Given the description of an element on the screen output the (x, y) to click on. 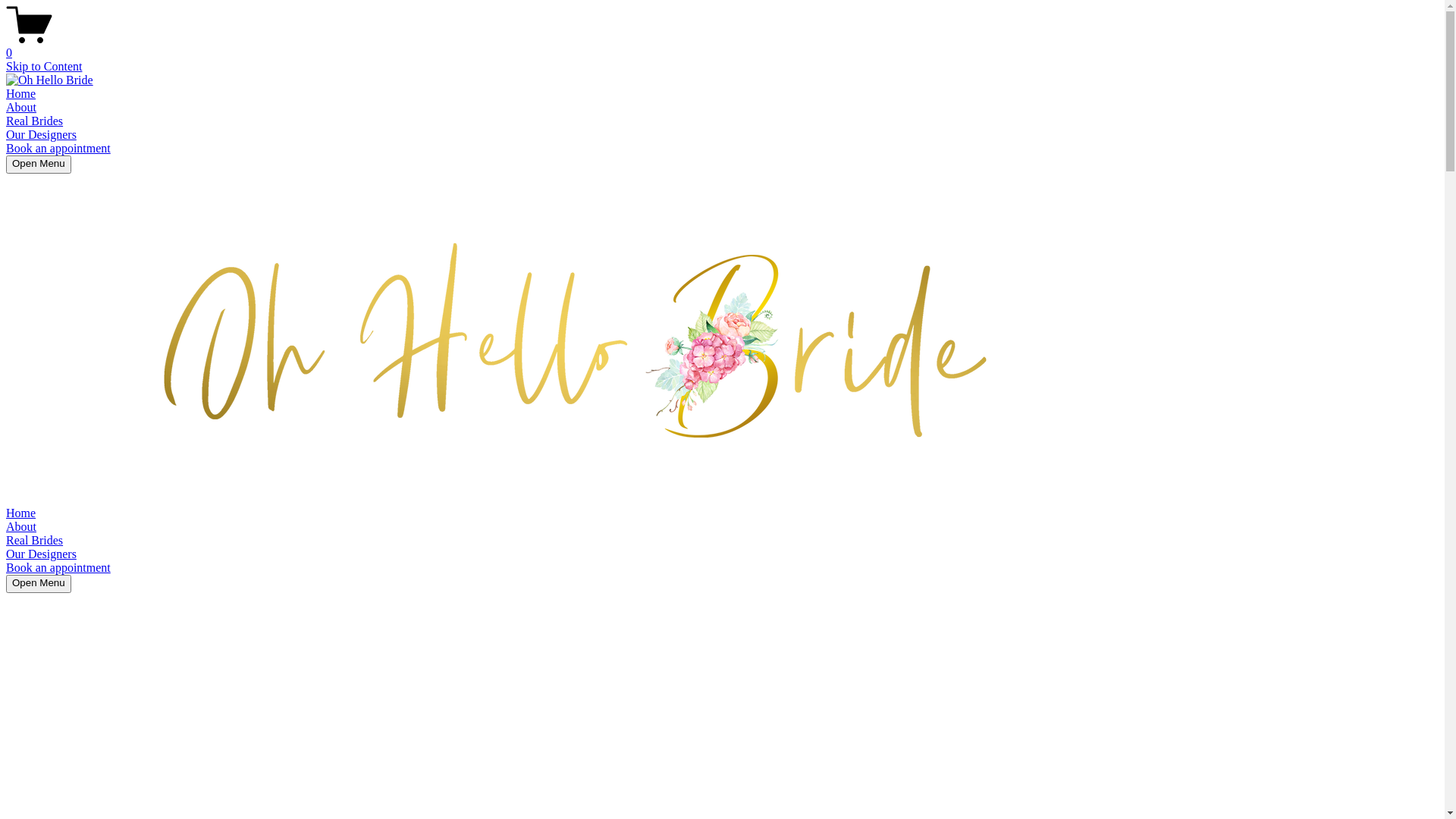
About Element type: text (21, 526)
Book an appointment Element type: text (58, 567)
Skip to Content Element type: text (43, 65)
Our Designers Element type: text (41, 553)
Real Brides Element type: text (34, 539)
Home Element type: text (20, 93)
Open Menu Element type: text (38, 583)
Open Menu Element type: text (38, 164)
Real Brides Element type: text (34, 120)
0 Element type: text (722, 45)
Book an appointment Element type: text (58, 147)
Our Designers Element type: text (41, 134)
About Element type: text (21, 106)
Home Element type: text (20, 512)
